Given the description of an element on the screen output the (x, y) to click on. 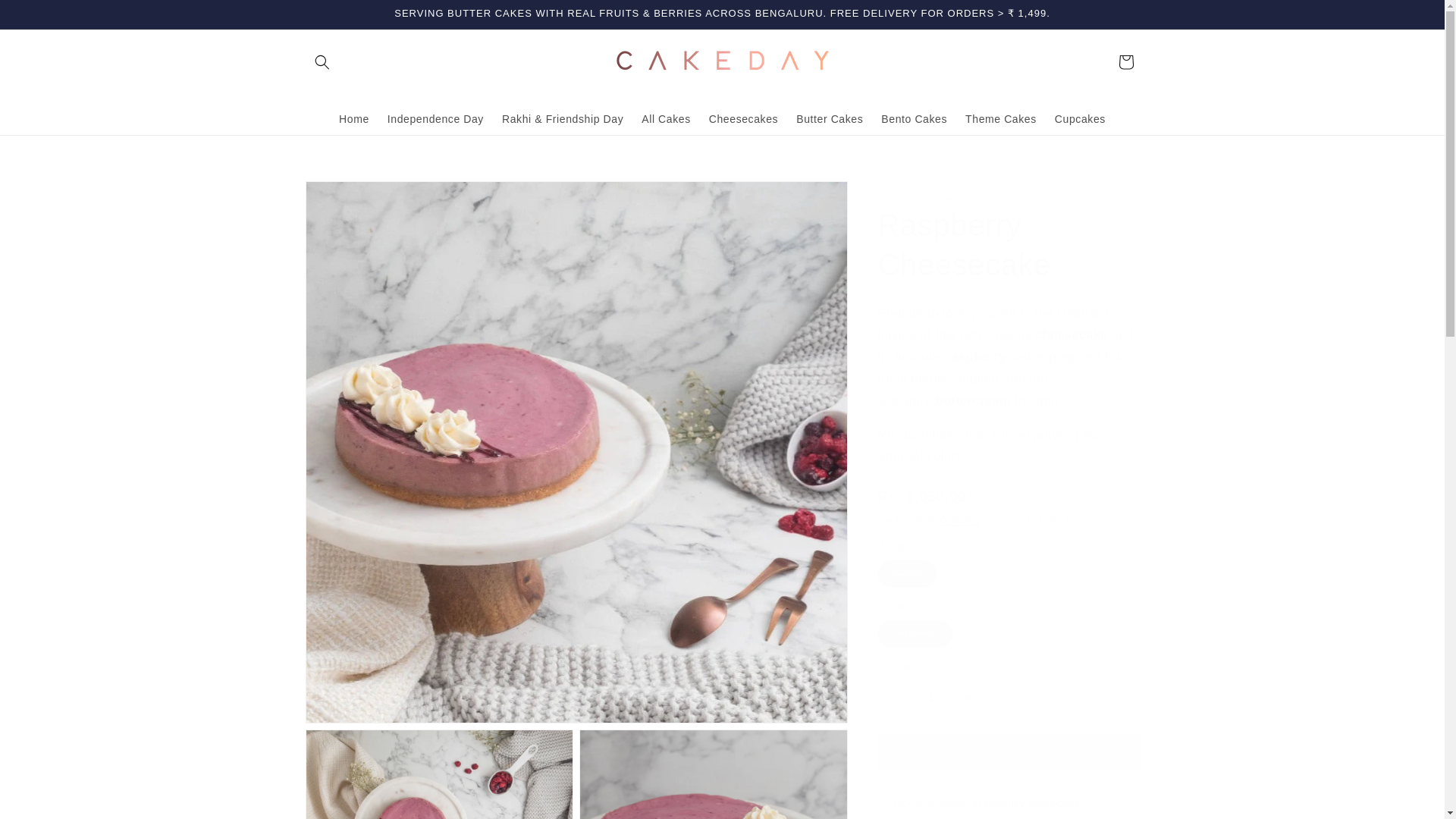
All Cakes (665, 119)
1 (931, 696)
Independence Day (435, 119)
Skip to content (45, 17)
Cheesecakes (743, 119)
Skip to product information (350, 198)
Theme Cakes (1000, 119)
Cupcakes (1080, 119)
Open media 3 in modal (713, 774)
Bento Cakes (914, 119)
Home (354, 119)
Open media 2 in modal (438, 774)
